Given the description of an element on the screen output the (x, y) to click on. 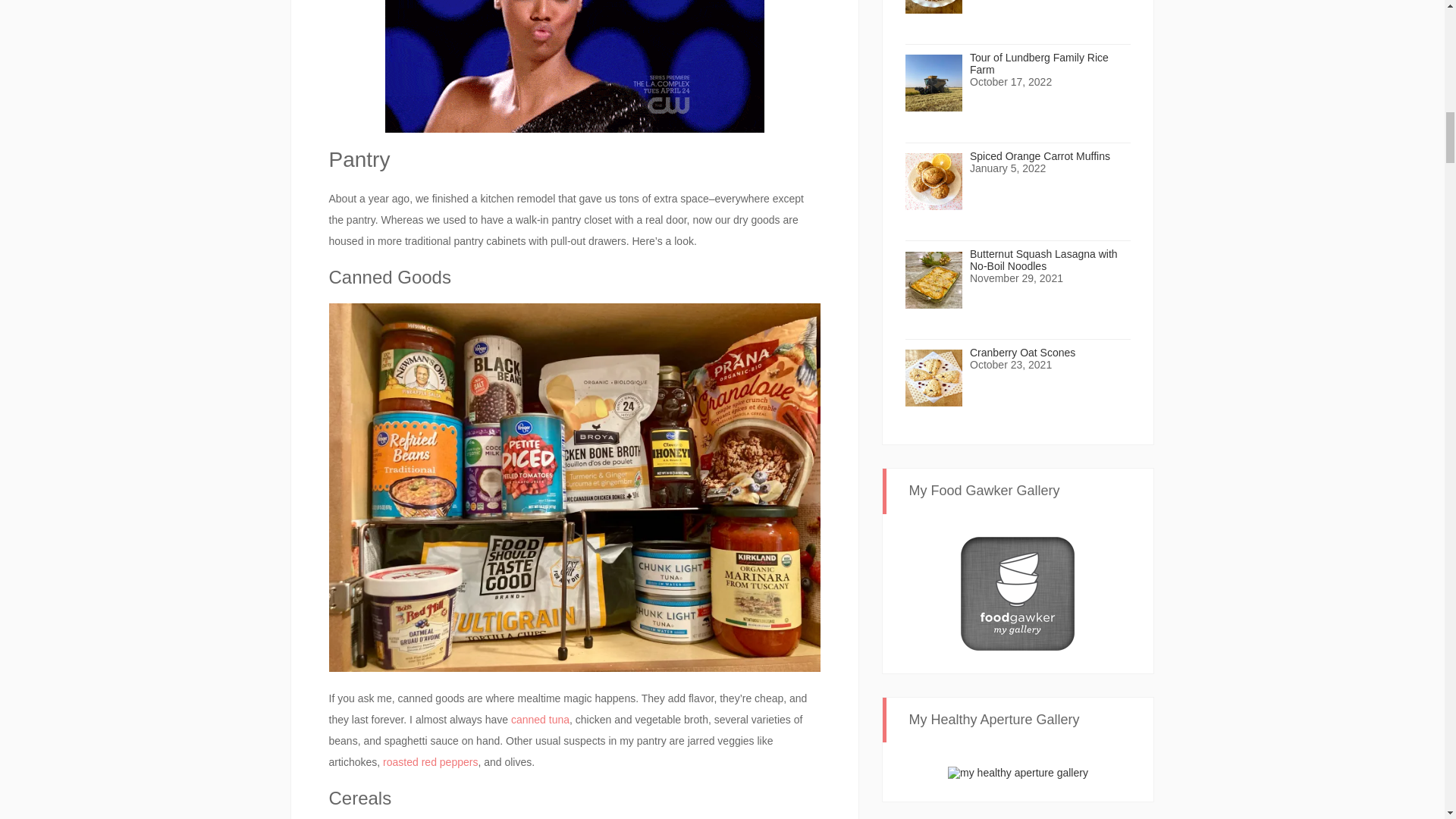
canned tuna (540, 719)
my healthy aperture gallery (1017, 770)
roasted red peppers (429, 761)
my foodgawker gallery (1017, 592)
